Given the description of an element on the screen output the (x, y) to click on. 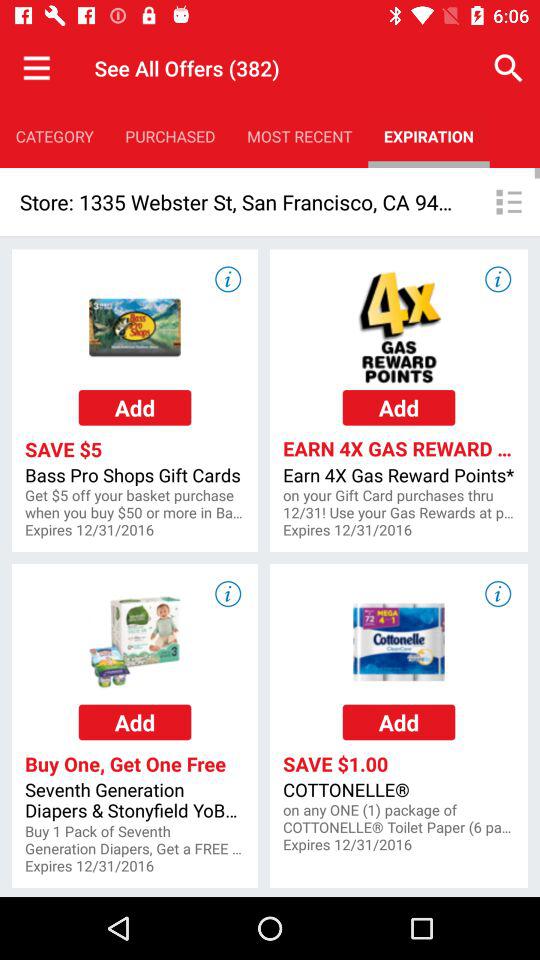
tap the item next to the see all offers item (36, 68)
